Given the description of an element on the screen output the (x, y) to click on. 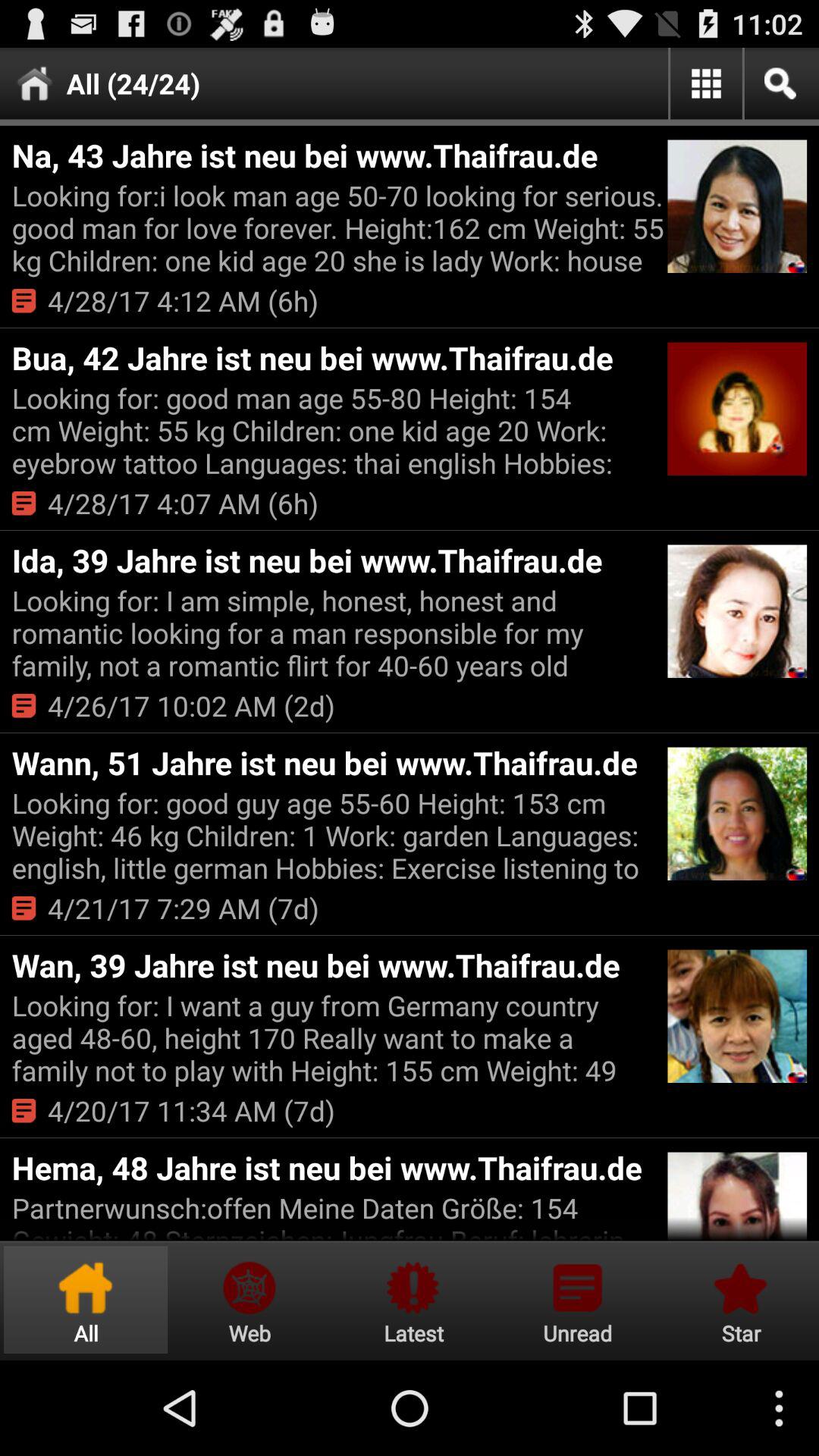
select app below the partnerwunsch offen meine (739, 1299)
